Given the description of an element on the screen output the (x, y) to click on. 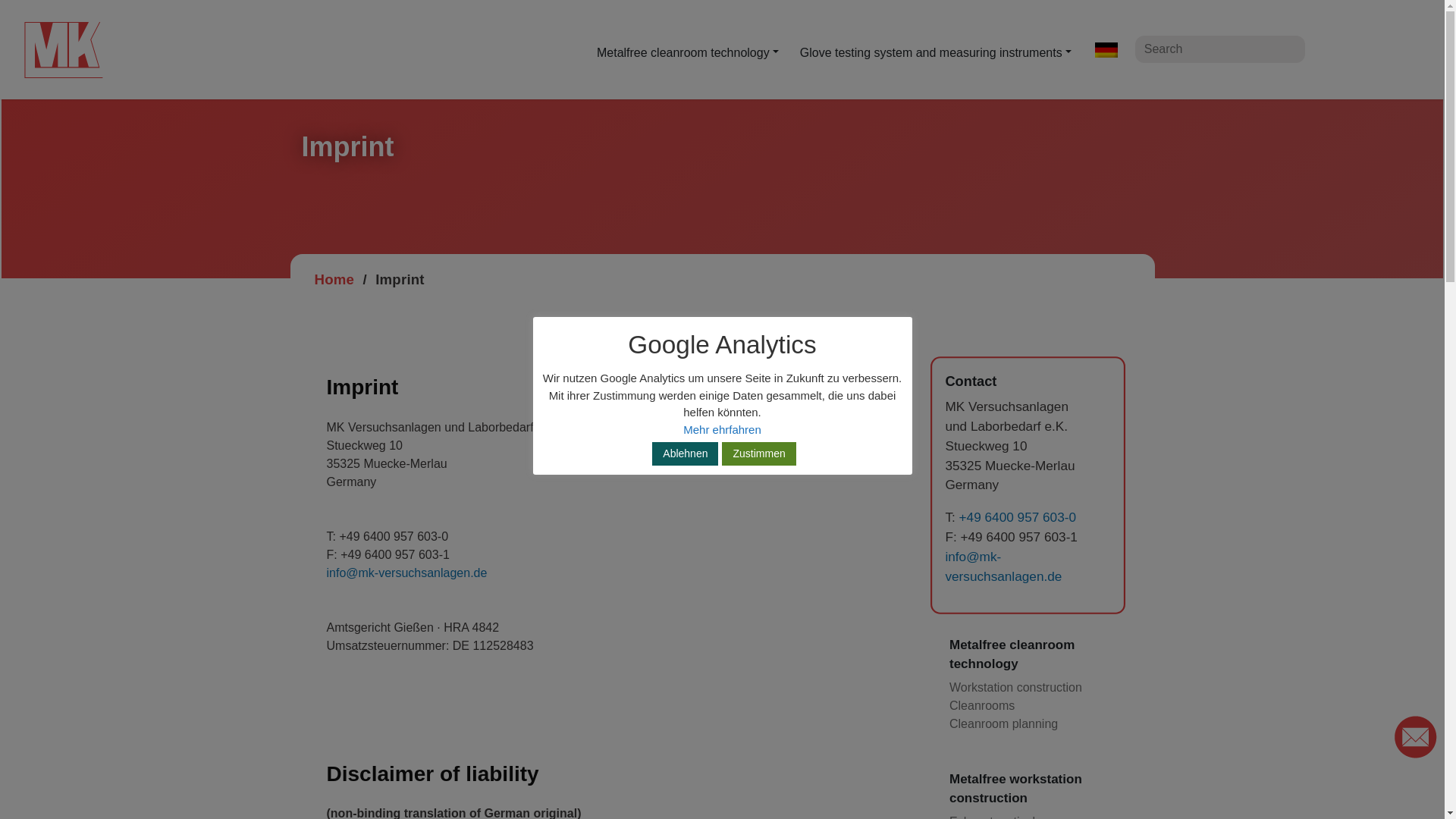
Metalfree cleanroom technology (687, 52)
Wenn ein Telefon verbunden ist: Nummer anrufen (1013, 516)
Home (333, 279)
MK (73, 55)
Glove testing system and measuring instruments (935, 52)
